Given the description of an element on the screen output the (x, y) to click on. 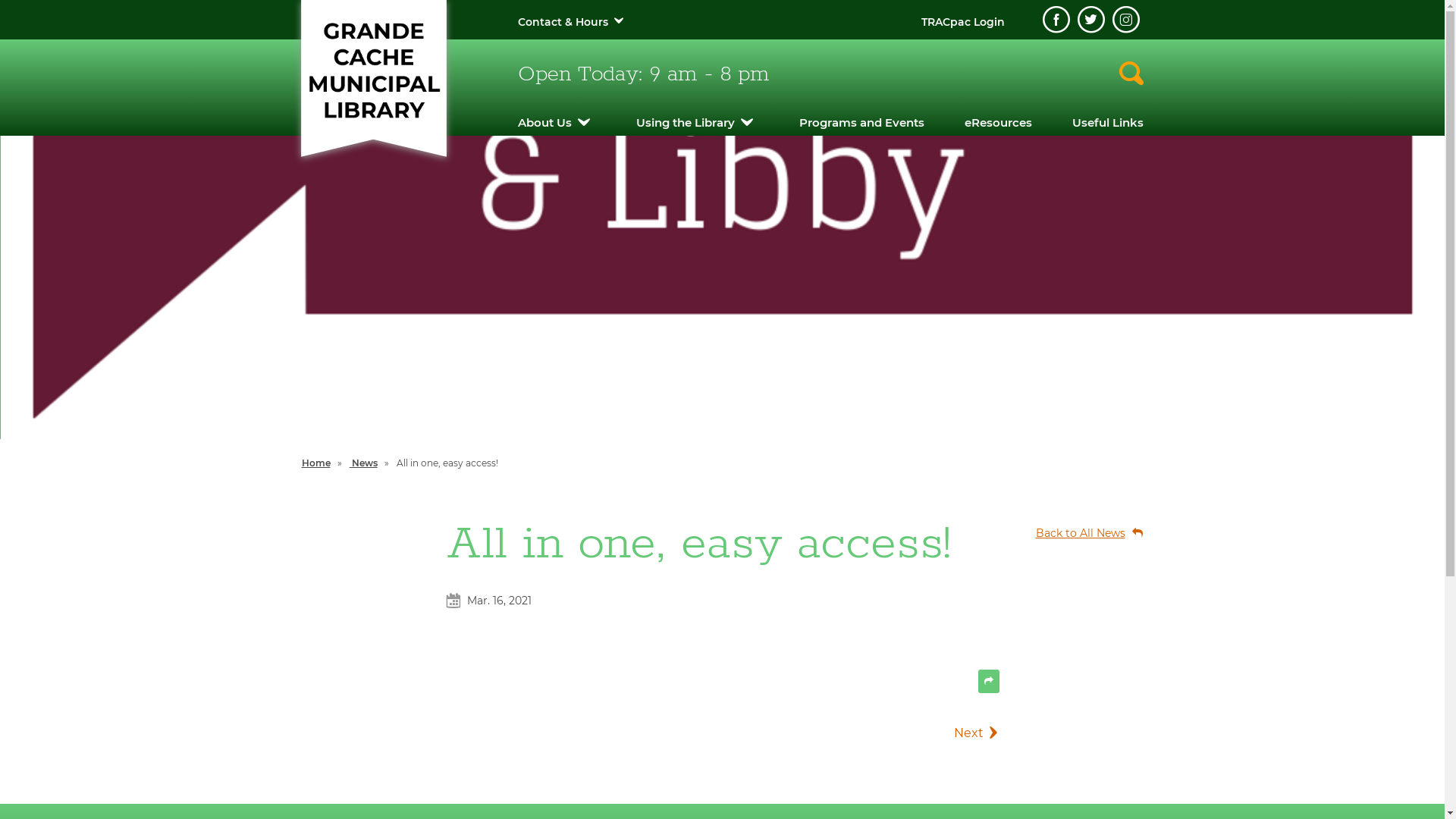
Twitter Element type: hover (1090, 19)
Grande Cache Municipal Library Element type: hover (372, 69)
News Element type: text (363, 462)
Useful Links Element type: text (1107, 122)
Back to All News Element type: text (1082, 533)
Home Element type: text (315, 462)
Facebook Element type: hover (1055, 19)
Programs and Events Element type: text (861, 122)
Using the Library Element type: text (684, 122)
Contact & Hours Element type: text (562, 21)
eResources Element type: text (998, 122)
Next Element type: text (938, 733)
TRACpac Login Element type: text (962, 21)
About Us Element type: text (544, 122)
Instagram Element type: hover (1125, 19)
